Given the description of an element on the screen output the (x, y) to click on. 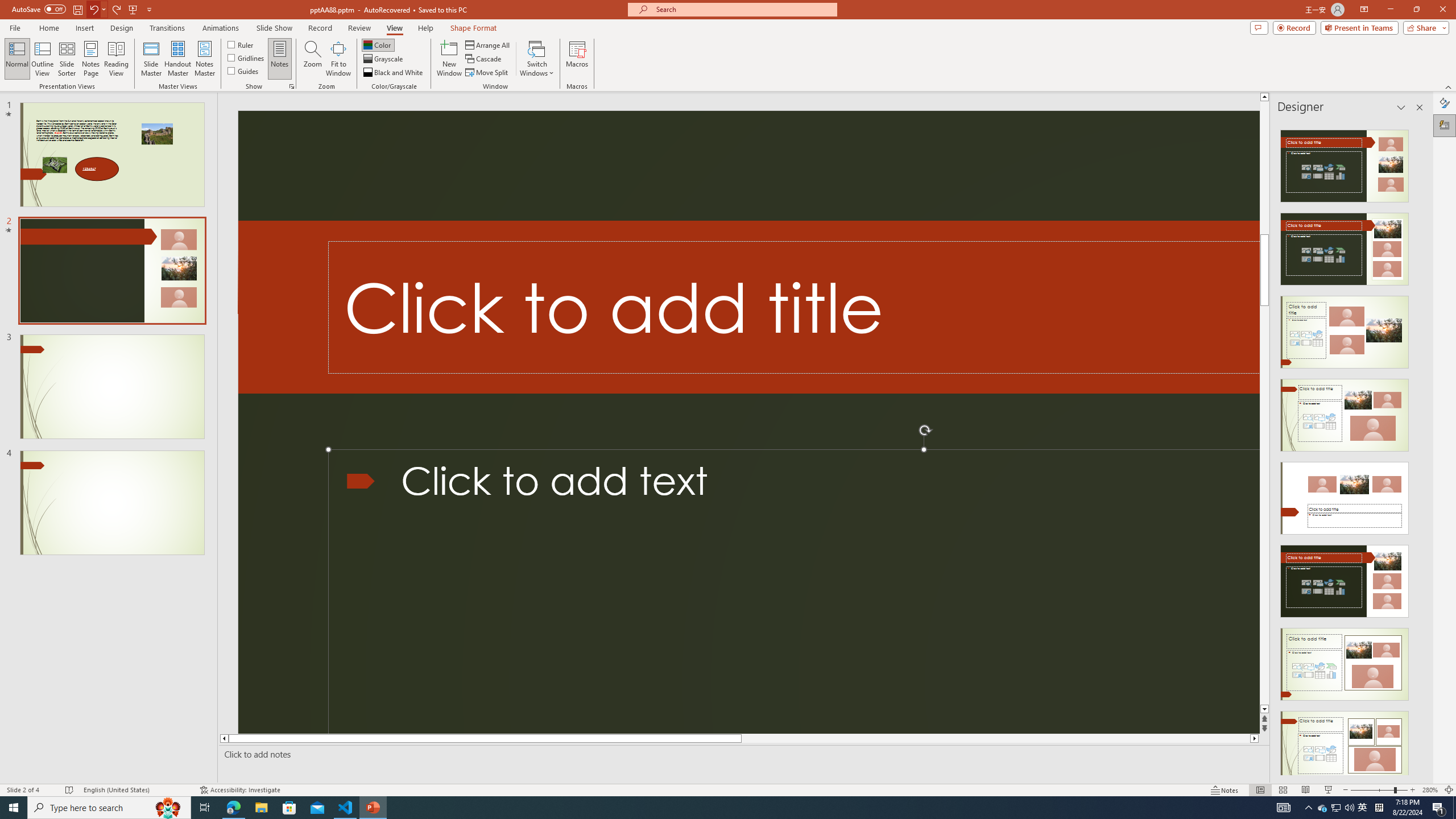
Slide Master (151, 58)
Fit to Window (338, 58)
Notes Page (90, 58)
Cascade (484, 58)
Arrange All (488, 44)
